Given the description of an element on the screen output the (x, y) to click on. 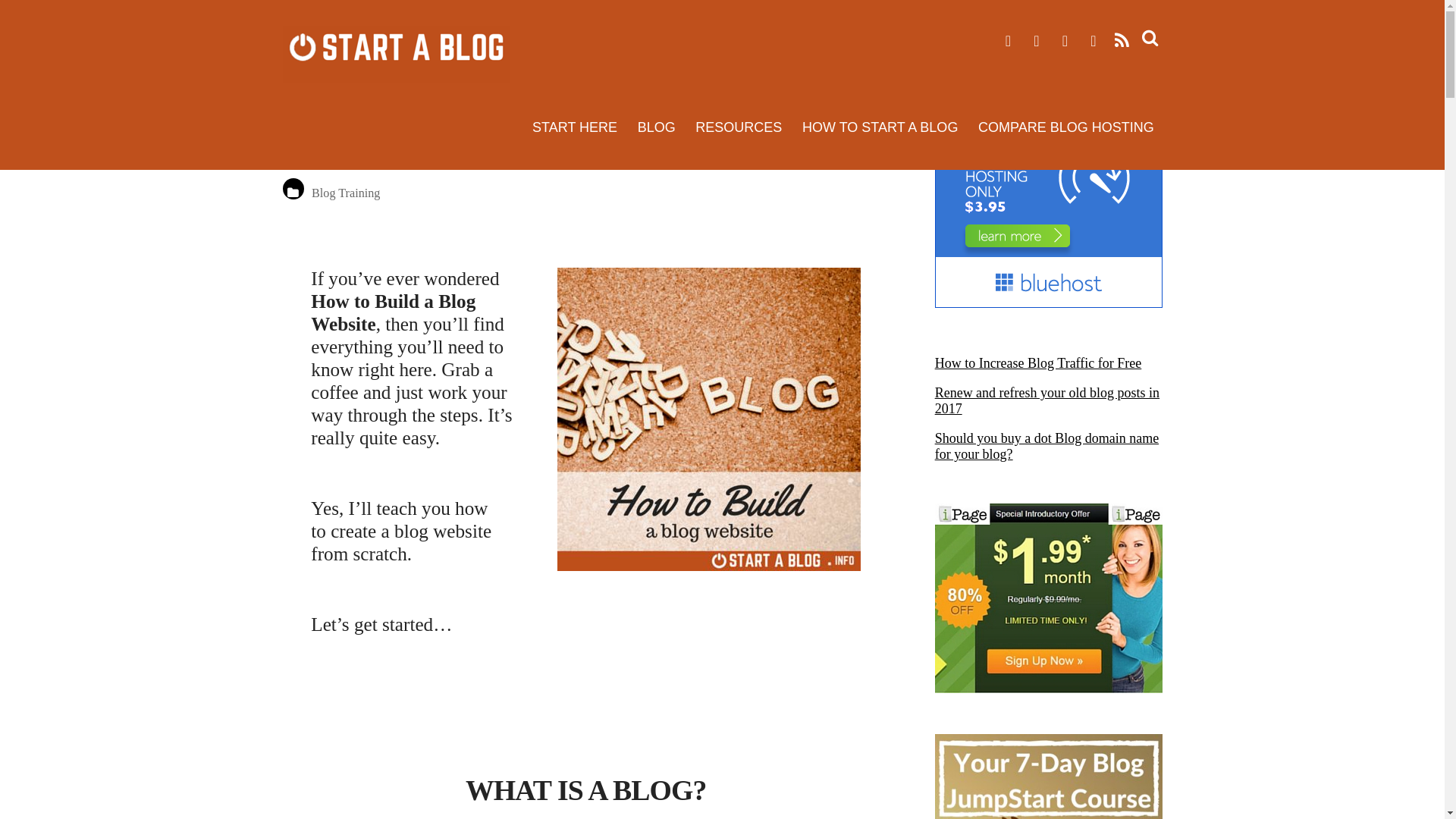
HOW TO BUILD A BLOG WEBSITE (526, 134)
START HERE (575, 127)
Cheap Blog Hosting (1047, 303)
WordPress Hosting (1047, 597)
Blogging for Beginners (1047, 776)
HOW TO START A BLOG (879, 127)
COMPARE BLOG HOSTING (1065, 127)
RESOURCES (738, 127)
Blog Training (345, 192)
Start a Blog (395, 53)
Start a Blog (395, 71)
